Given the description of an element on the screen output the (x, y) to click on. 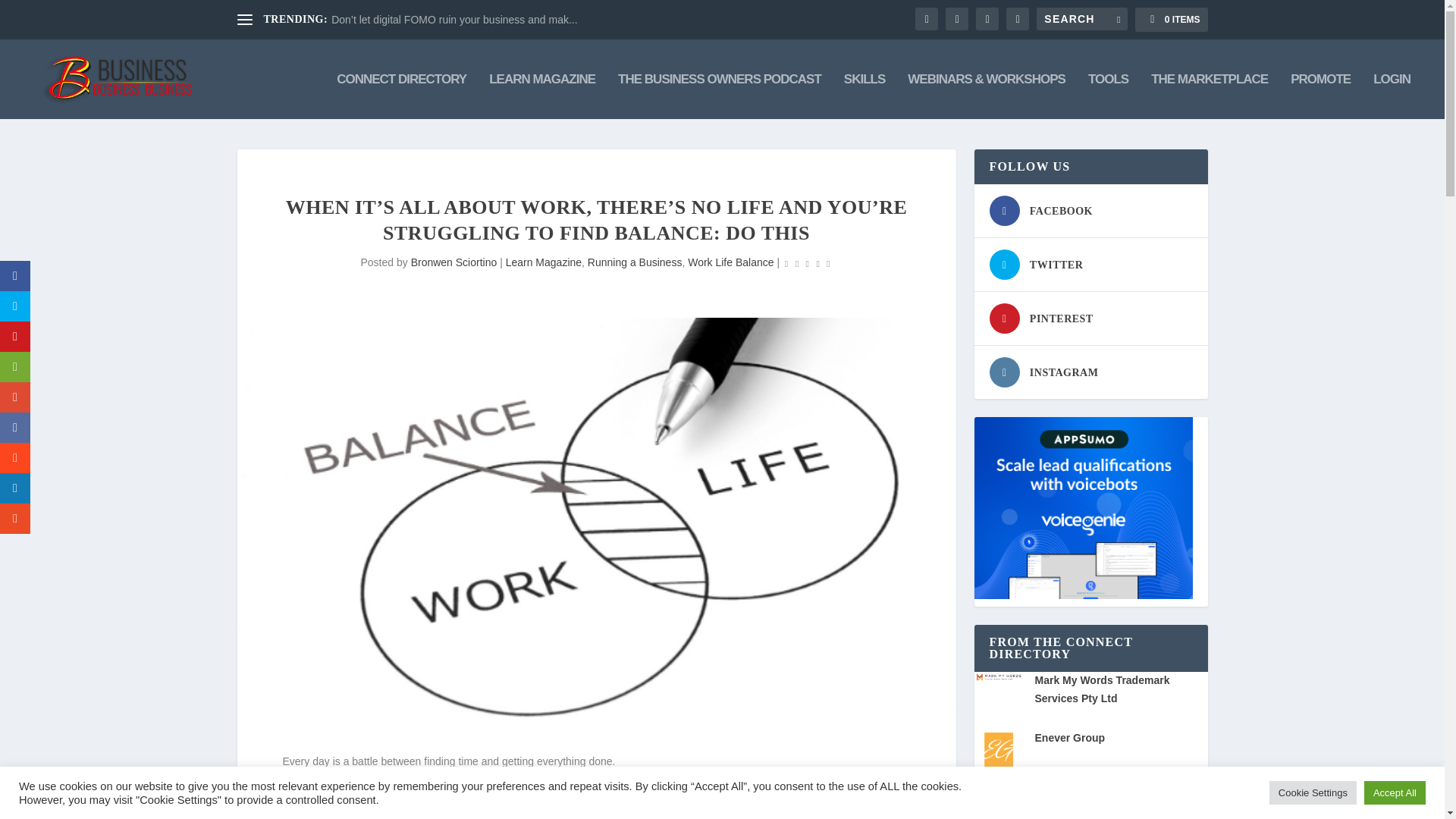
Search for: (1081, 18)
Bronwen Sciortino (453, 262)
Learn Magazine (542, 262)
Posts by Bronwen Sciortino (453, 262)
Work Life Balance (730, 262)
THE BUSINESS OWNERS PODCAST (719, 95)
0 ITEMS (1171, 19)
LEARN MAGAZINE (542, 95)
PROMOTE (1320, 95)
SKILLS (864, 95)
CONNECT DIRECTORY (400, 95)
Rating: 0.00 (807, 262)
0 Items in Cart (1171, 19)
Running a Business (635, 262)
THE MARKETPLACE (1209, 95)
